Given the description of an element on the screen output the (x, y) to click on. 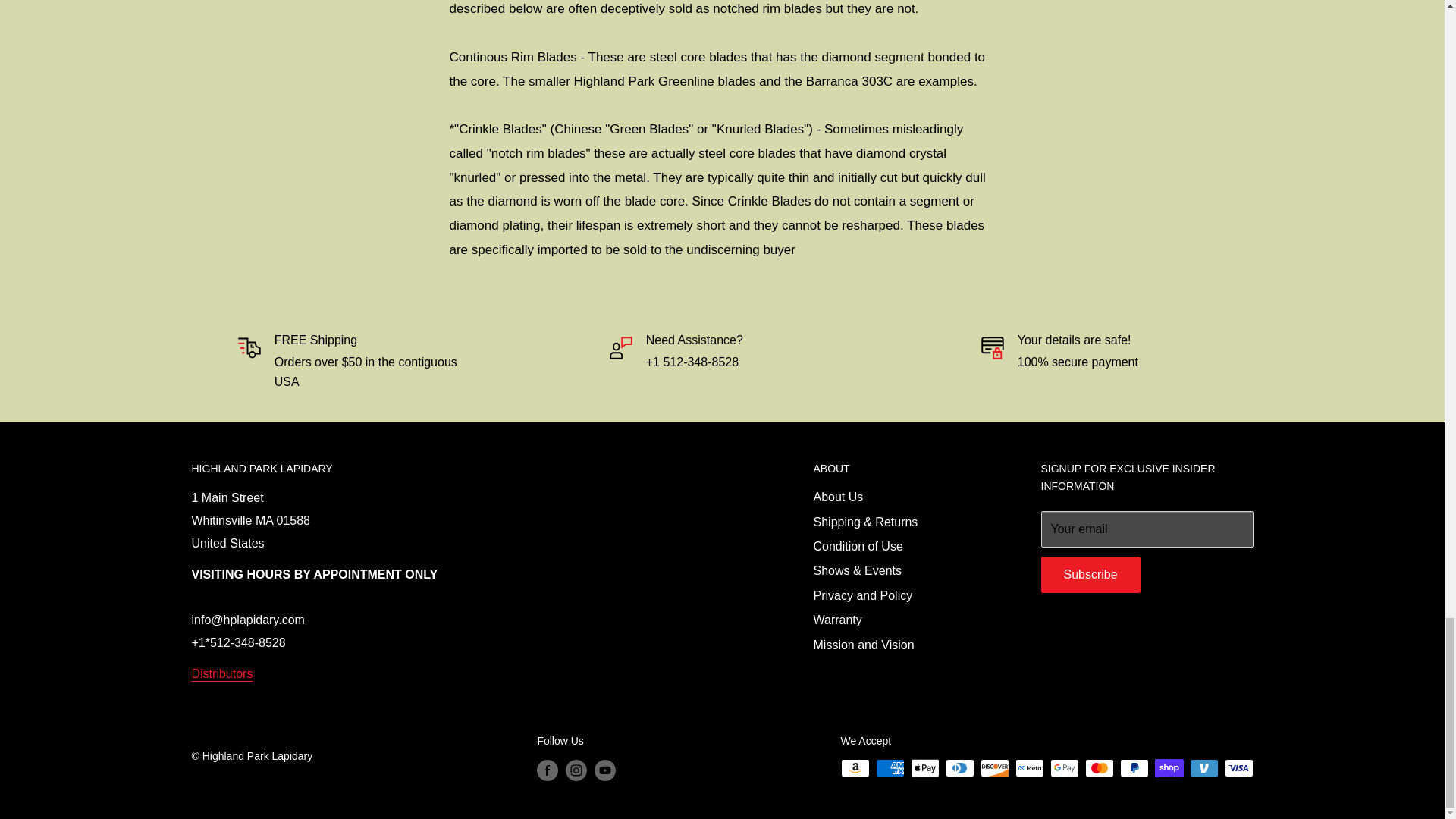
HIGHLAND PARK LAPIDARY (475, 469)
ABOUT (899, 469)
Subscribe (1090, 574)
Distributors (220, 673)
About Us (899, 497)
Warranty (899, 620)
Condition of Use (899, 546)
Mission and Vision (899, 645)
Privacy and Policy (899, 595)
